Given the description of an element on the screen output the (x, y) to click on. 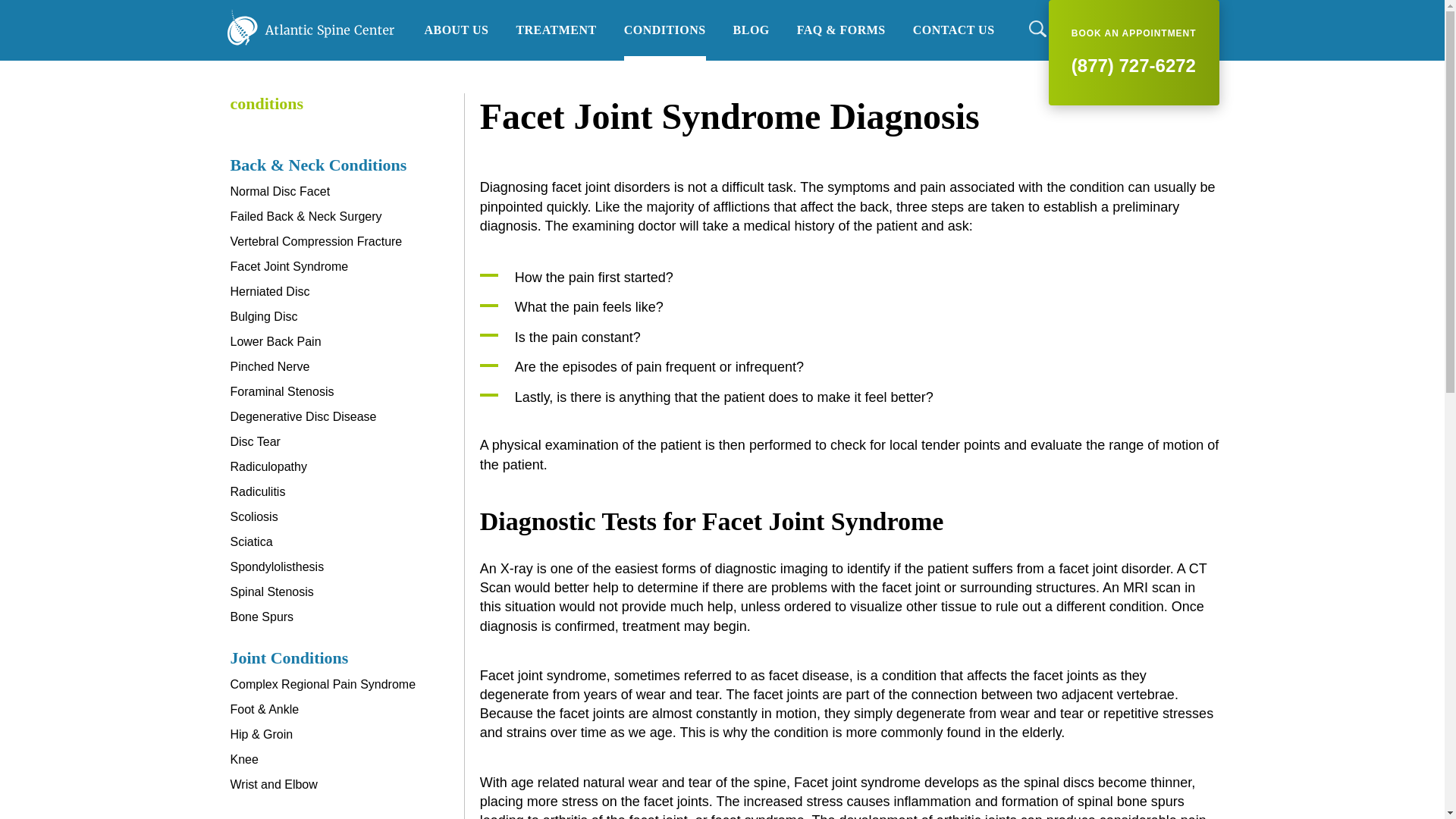
TREATMENT (555, 30)
Call Phone Number (1134, 52)
ABOUT US (457, 30)
